Given the description of an element on the screen output the (x, y) to click on. 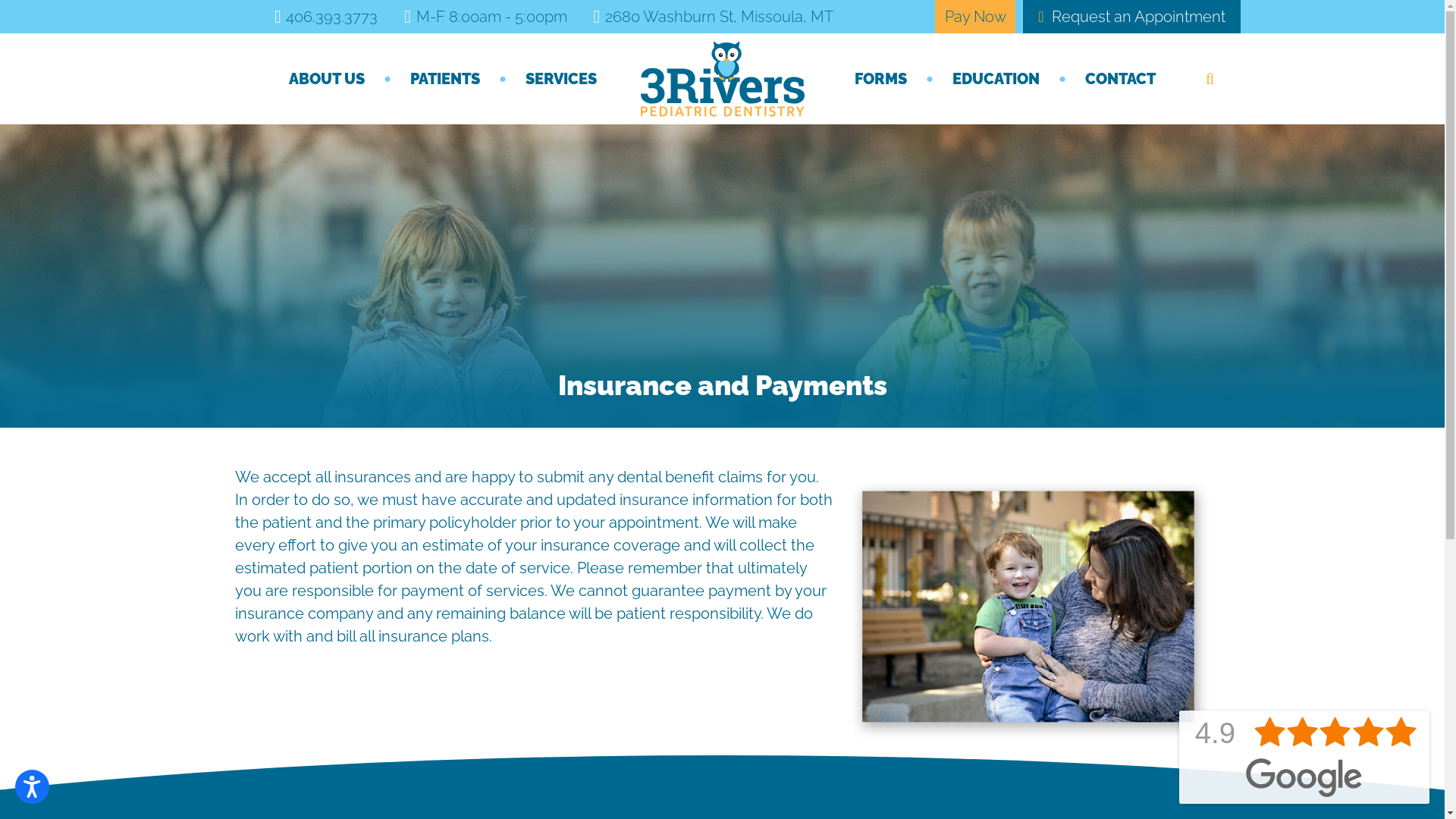
SERVICES Element type: text (560, 78)
Instagram Element type: text (239, 16)
406.393.3773 Element type: text (326, 16)
PATIENTS Element type: text (444, 78)
ABOUT US Element type: text (326, 78)
CONTACT Element type: text (1120, 78)
2680 Washburn St, Missoula, MT Element type: text (712, 16)
Facebook Element type: text (213, 16)
Pay Now Element type: text (975, 16)
Request an Appointment Element type: text (1130, 16)
FORMS Element type: text (880, 78)
EDUCATION Element type: text (995, 78)
